Given the description of an element on the screen output the (x, y) to click on. 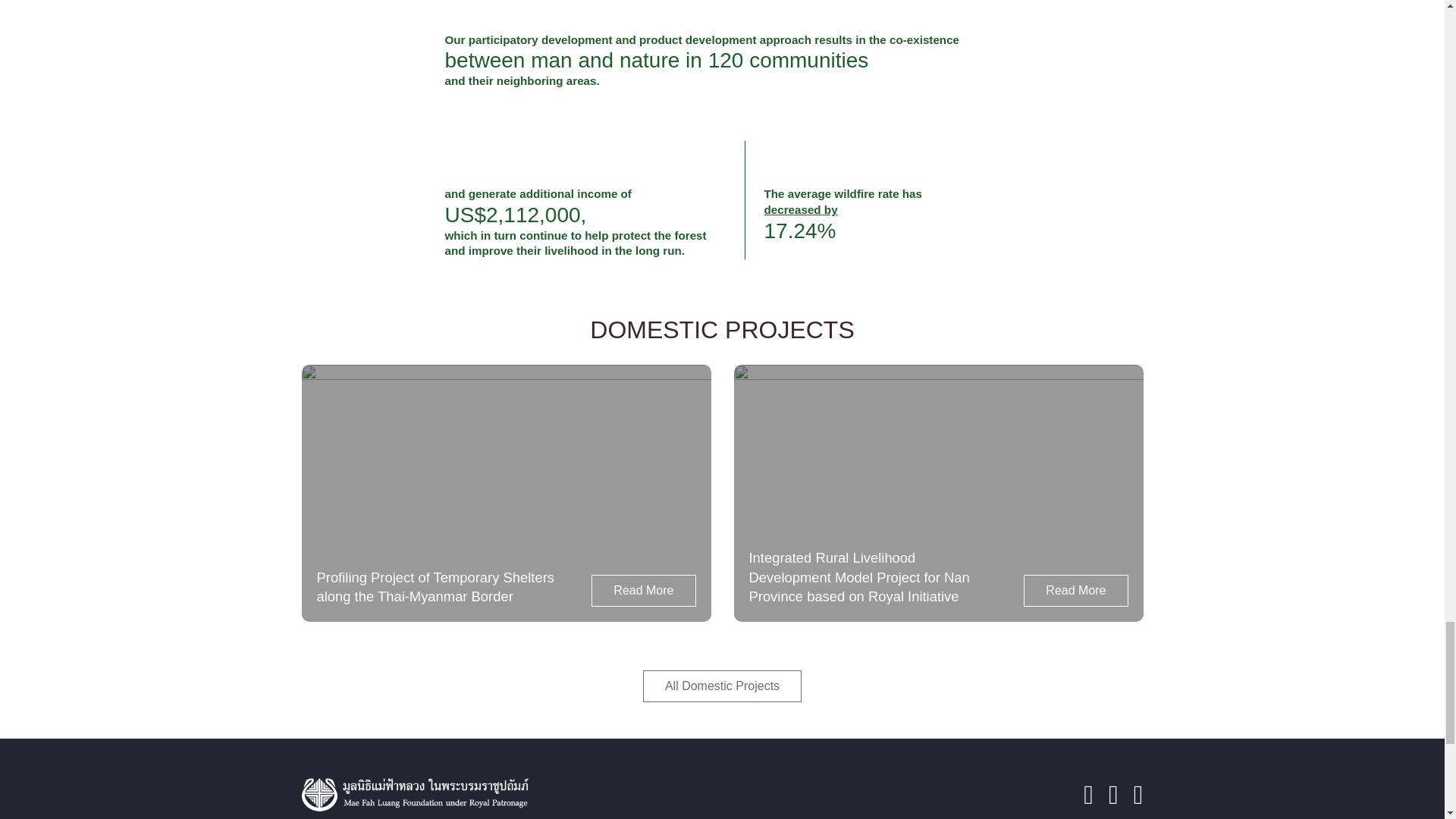
Read More (643, 590)
